Given the description of an element on the screen output the (x, y) to click on. 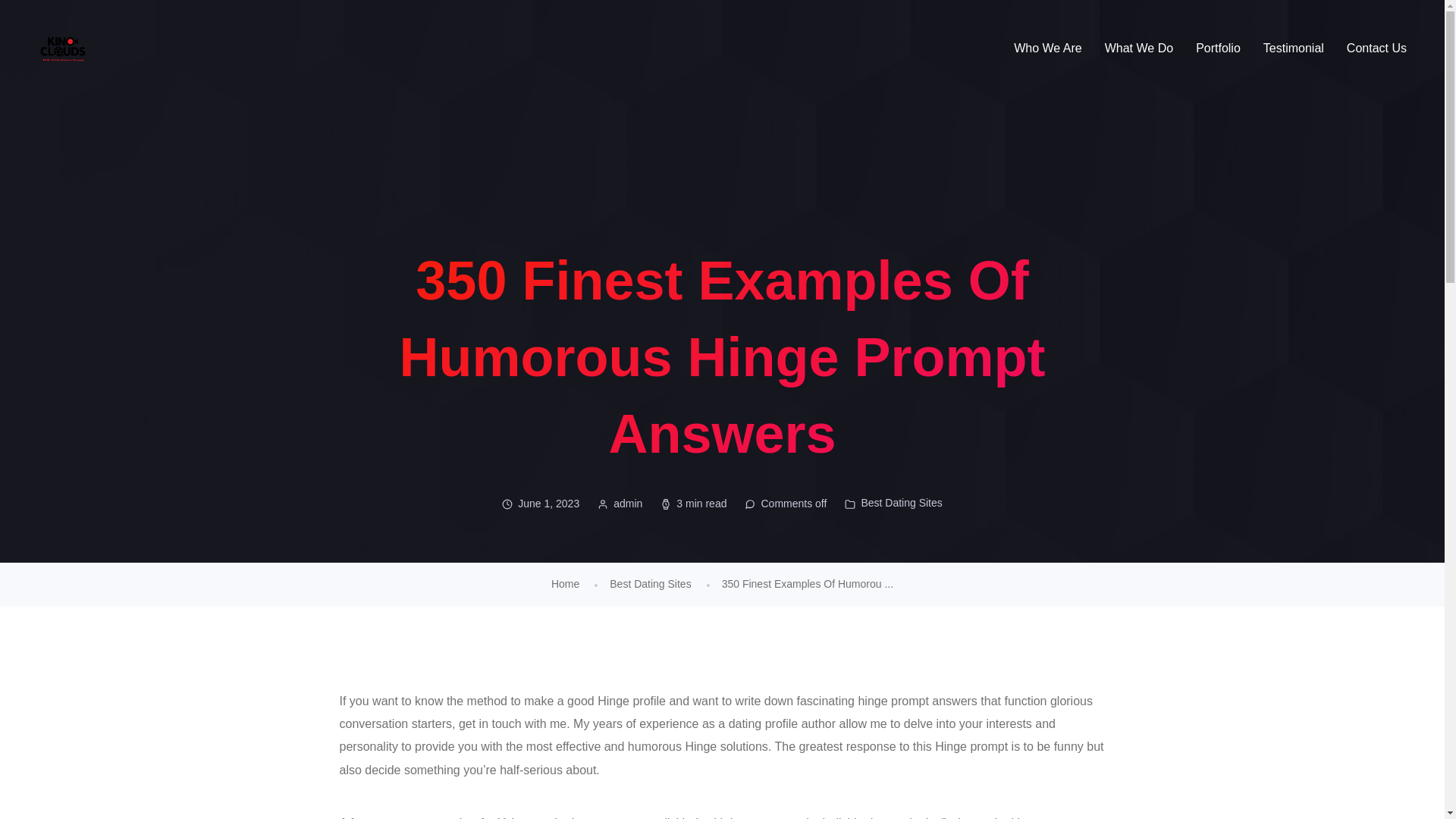
Kino Clouds (62, 48)
Home (565, 583)
Home (565, 583)
Testimonial (1293, 48)
Contact Us (1376, 48)
Best Dating Sites (901, 502)
Who We Are (1047, 48)
What We Do (1139, 48)
350 Finest Examples Of Humorous Hinge Prompt Answers (807, 583)
Best Dating Sites (650, 583)
